Given the description of an element on the screen output the (x, y) to click on. 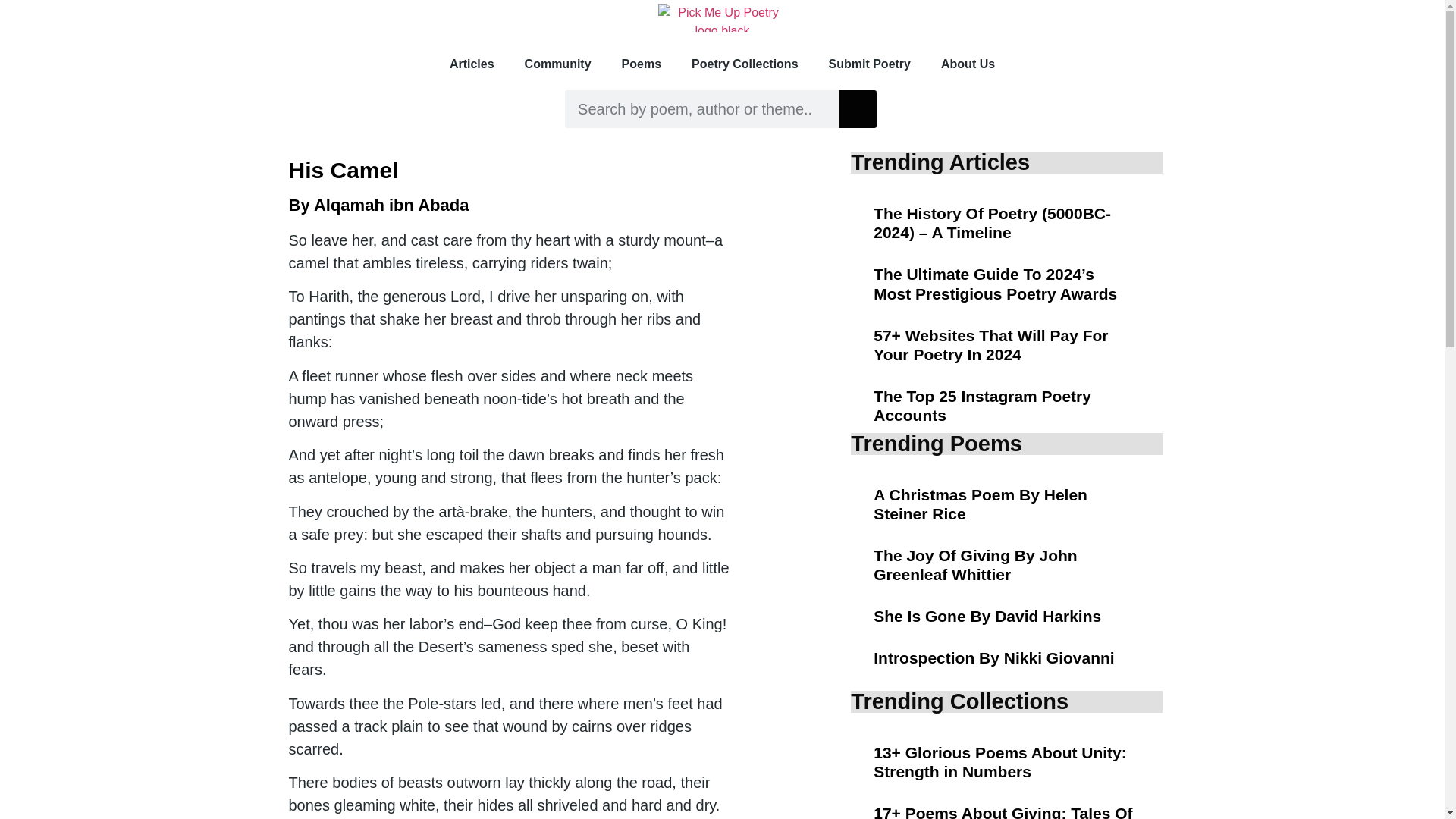
Community (558, 63)
Trending Collections (959, 701)
Submit Poetry (869, 63)
Introspection By Nikki Giovanni (993, 657)
Trending Articles (939, 161)
A Christmas Poem By Helen Steiner Rice (980, 503)
Articles (471, 63)
Trending Poems (936, 442)
The Joy Of Giving By John Greenleaf Whittier (975, 565)
About Us (968, 63)
